Given the description of an element on the screen output the (x, y) to click on. 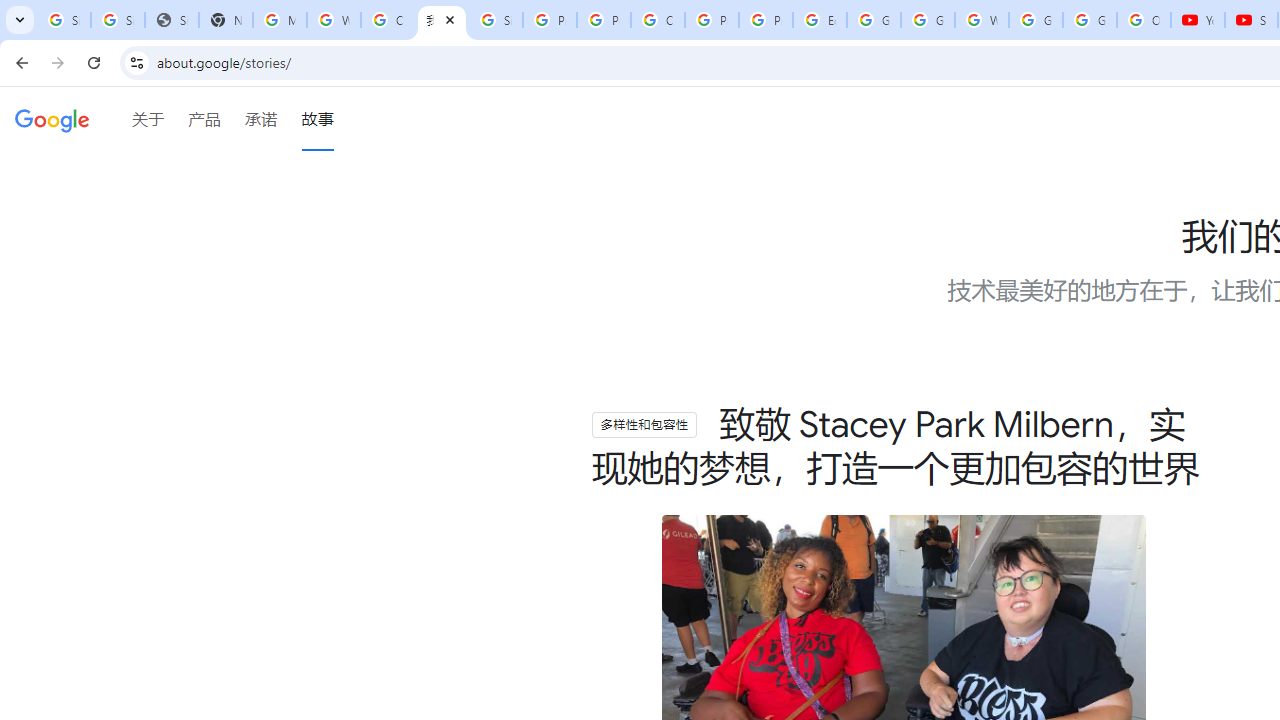
Sign in - Google Accounts (117, 20)
Google (52, 121)
Google Account (1089, 20)
